Given the description of an element on the screen output the (x, y) to click on. 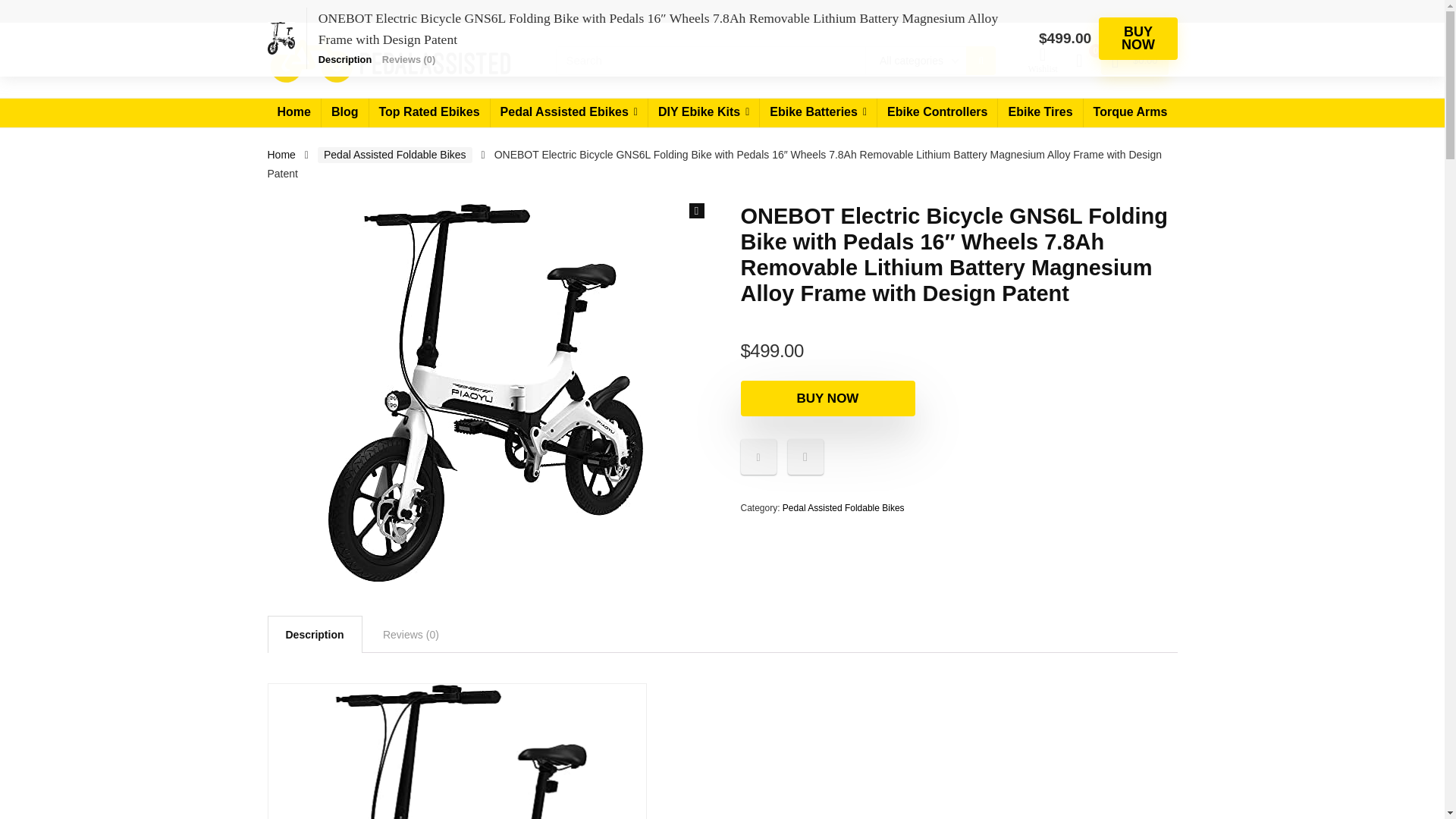
Ebike Controllers (937, 112)
Top Rated Ebikes (428, 112)
Pedal Assisted Ebikes (568, 112)
Ebike Tires (1039, 112)
Torque Arms (1130, 112)
Home (293, 112)
Blog (344, 112)
Ebike Batteries (818, 112)
DIY Ebike Kits (702, 112)
